Given the description of an element on the screen output the (x, y) to click on. 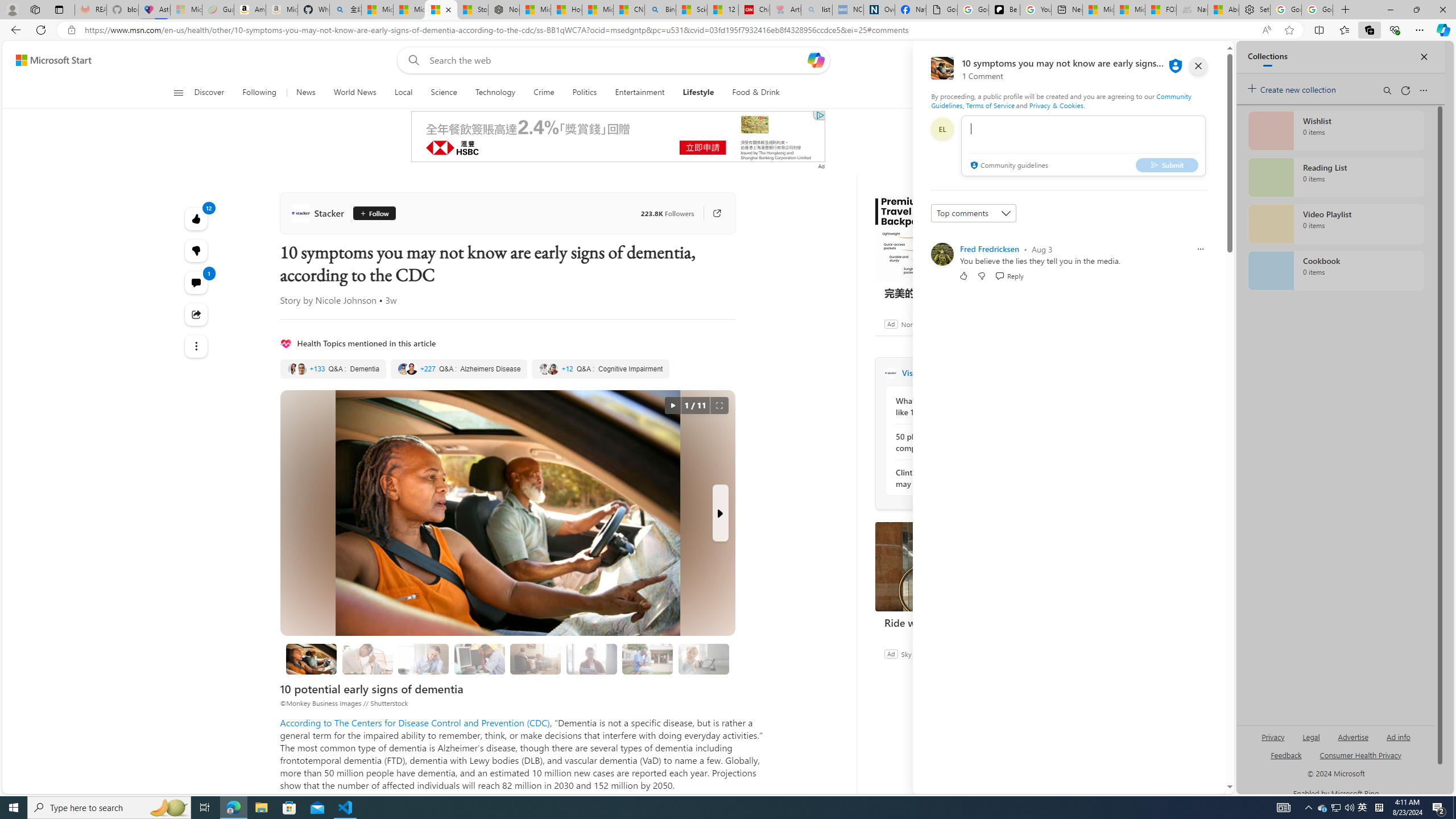
News (305, 92)
50 photos that show companionship in the animal kingdom (957, 441)
Technology (494, 92)
Sort comments by (973, 212)
How I Got Rid of Microsoft Edge's Unnecessary Features (566, 9)
Like (962, 275)
Community guidelines (1008, 165)
